Given the description of an element on the screen output the (x, y) to click on. 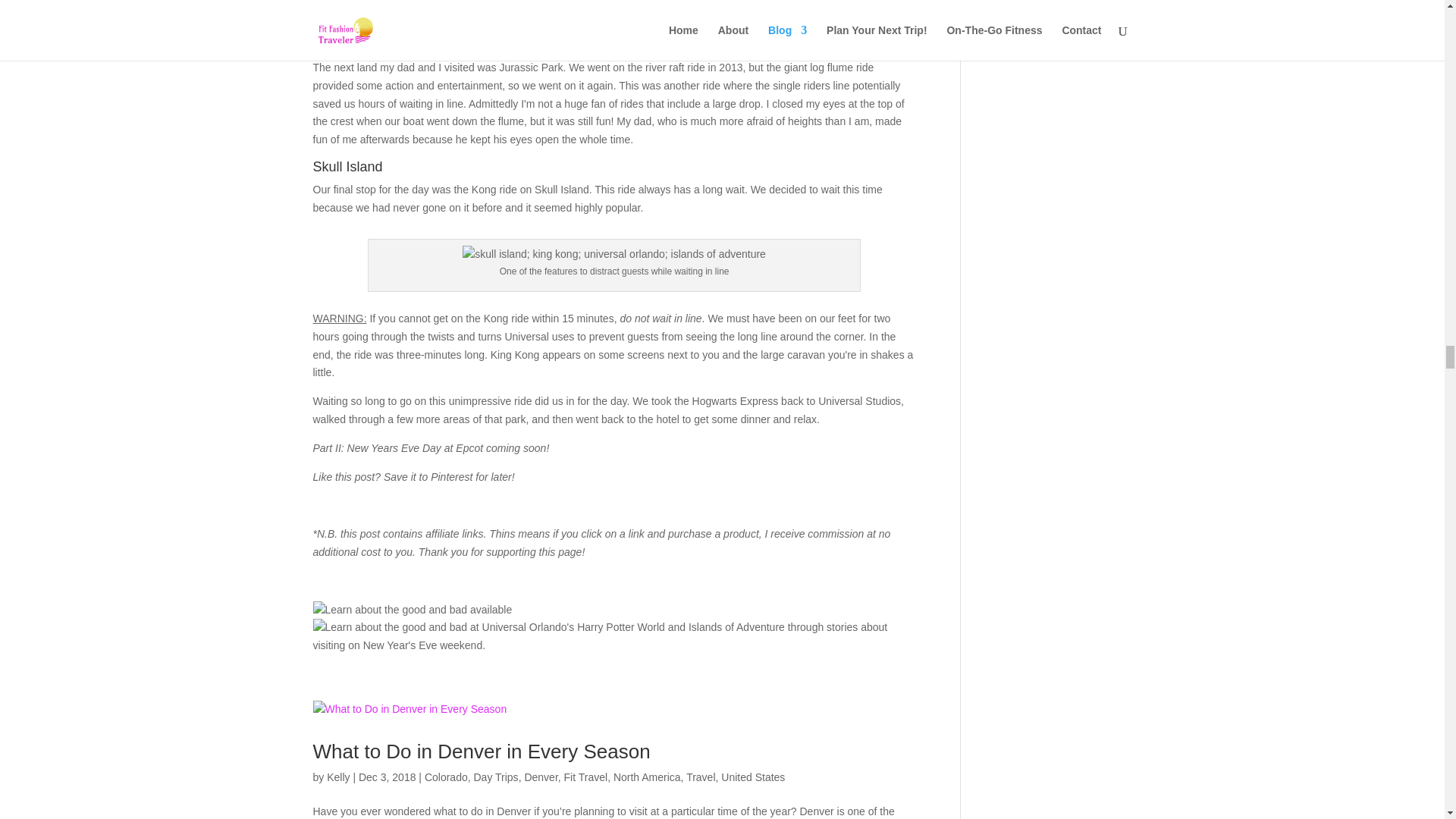
Orlando NYE 2 (614, 637)
Posts by Kelly (337, 776)
Harry Potter World for New Years Eve Weekend (412, 610)
